Given the description of an element on the screen output the (x, y) to click on. 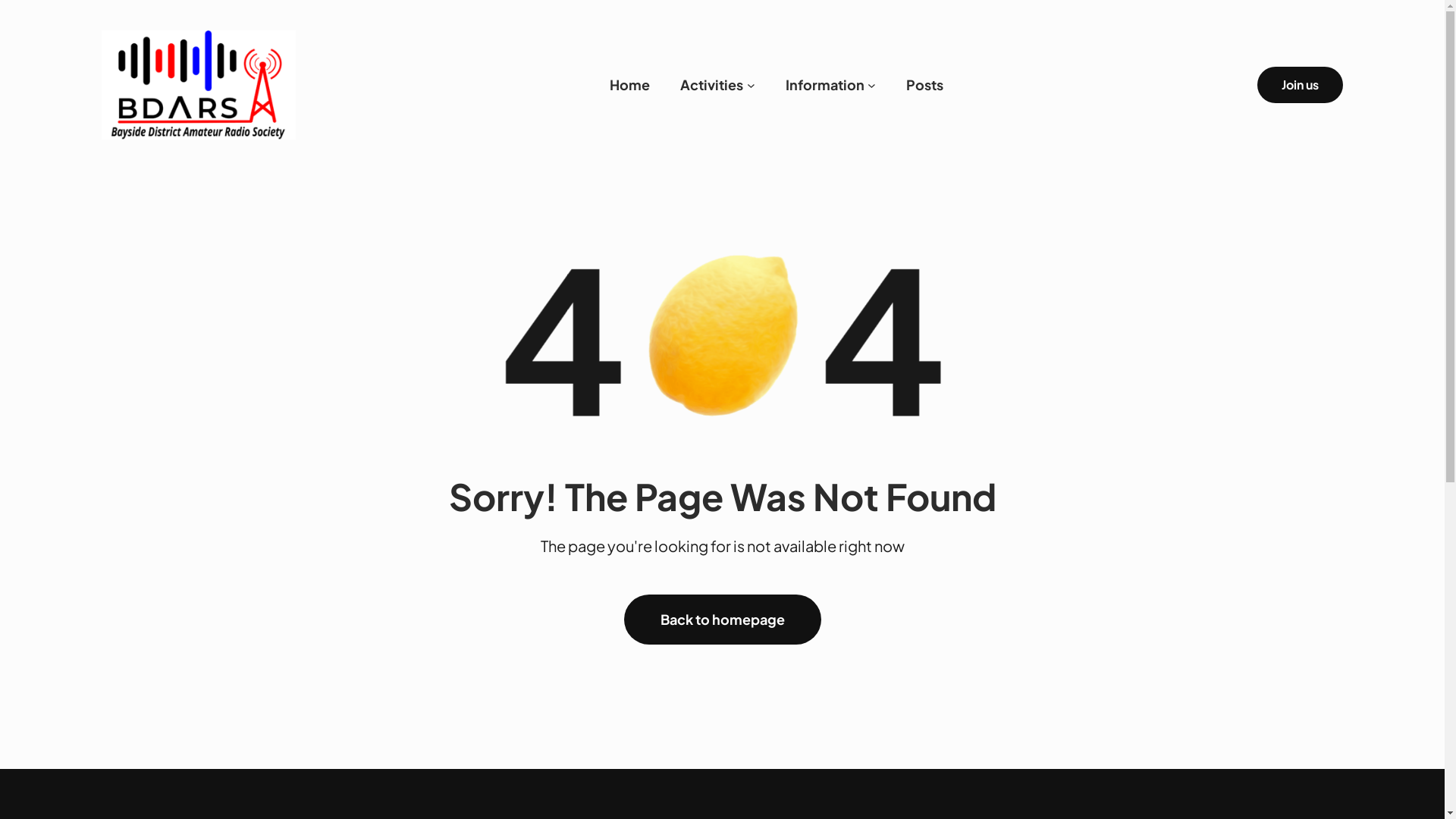
Information Element type: text (824, 85)
Join us Element type: text (1300, 84)
Home Element type: text (629, 85)
Activities Element type: text (711, 85)
Posts Element type: text (924, 85)
Back to homepage Element type: text (721, 619)
